Given the description of an element on the screen output the (x, y) to click on. 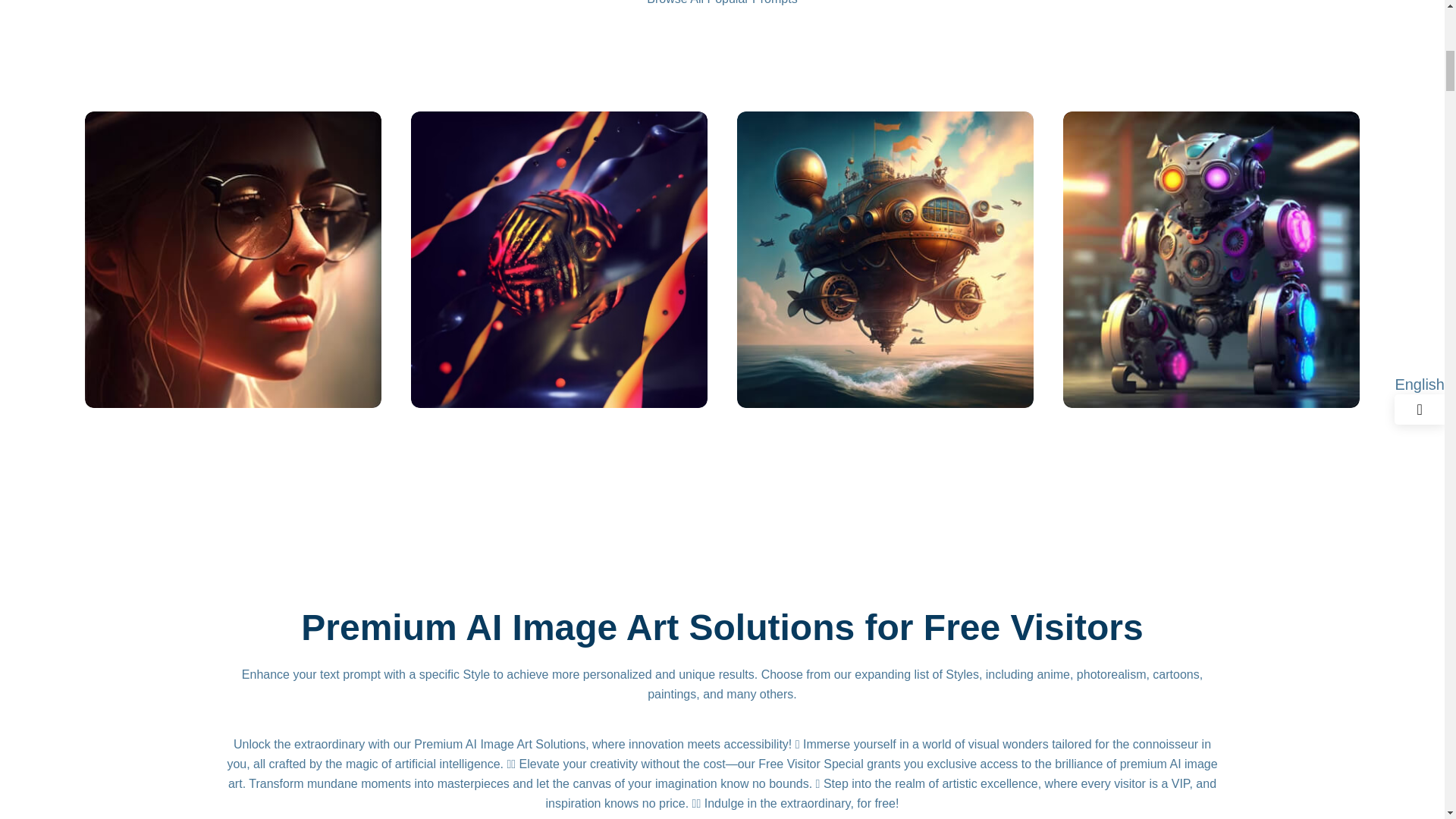
A thoughtful girl with glasses looking at the stars (232, 258)
Browse All Popular Prompts (721, 2)
A cyberpunk hot-air balloon over a neon cityscape (558, 258)
AI and the rise of autonomous real-life robots (1210, 258)
A surreal ride - Cyberpunk hot-air balloon adventure (884, 258)
